Given the description of an element on the screen output the (x, y) to click on. 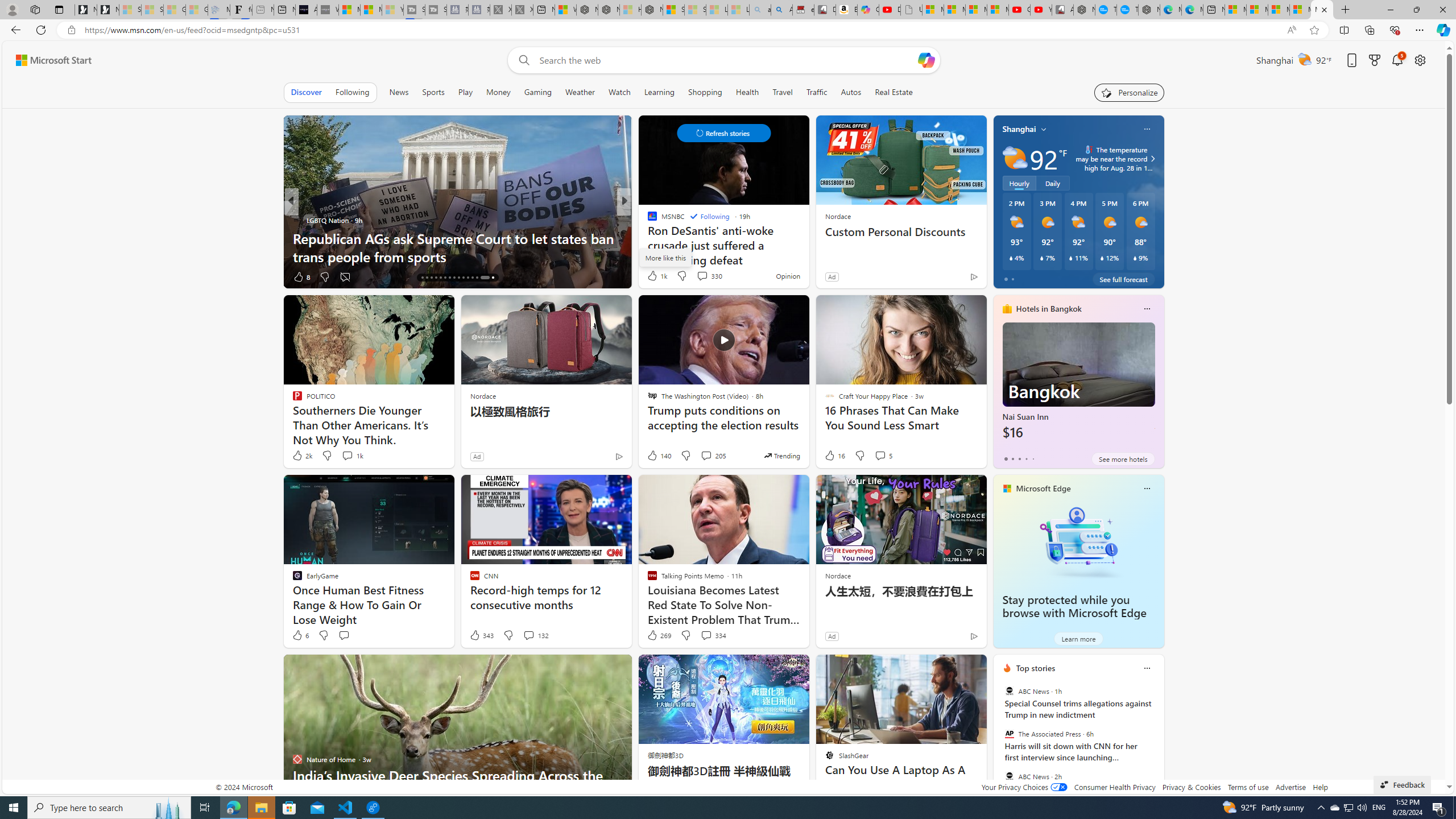
tab-3 (1025, 458)
View comments 205 Comment (712, 455)
